Given the description of an element on the screen output the (x, y) to click on. 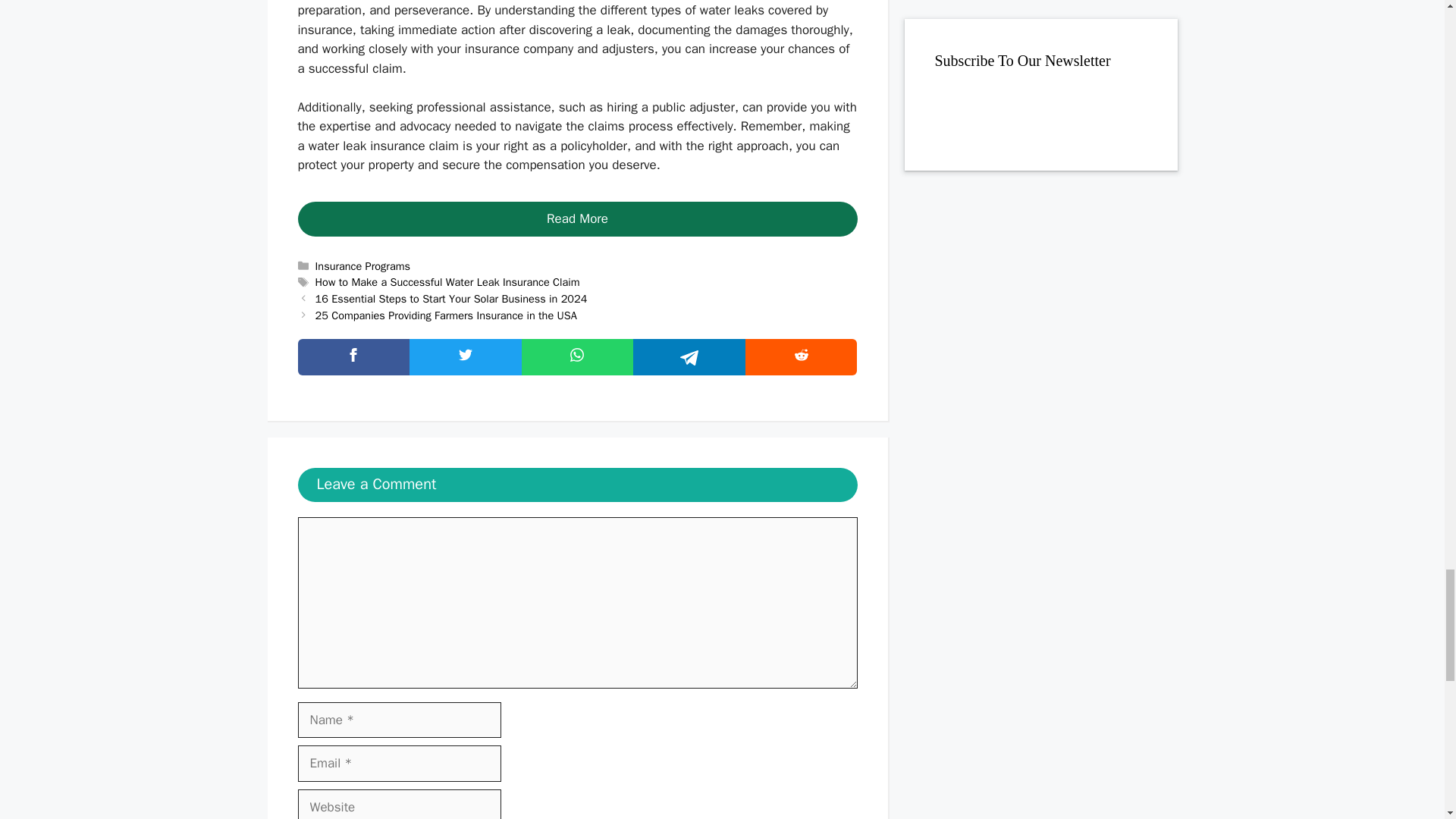
Insurance Programs (362, 265)
25 Companies Providing Farmers Insurance in the USA (445, 315)
16 Essential Steps to Start Your Solar Business in 2024 (451, 298)
How to Make a Successful Water Leak Insurance Claim (447, 282)
Read More (577, 218)
